Given the description of an element on the screen output the (x, y) to click on. 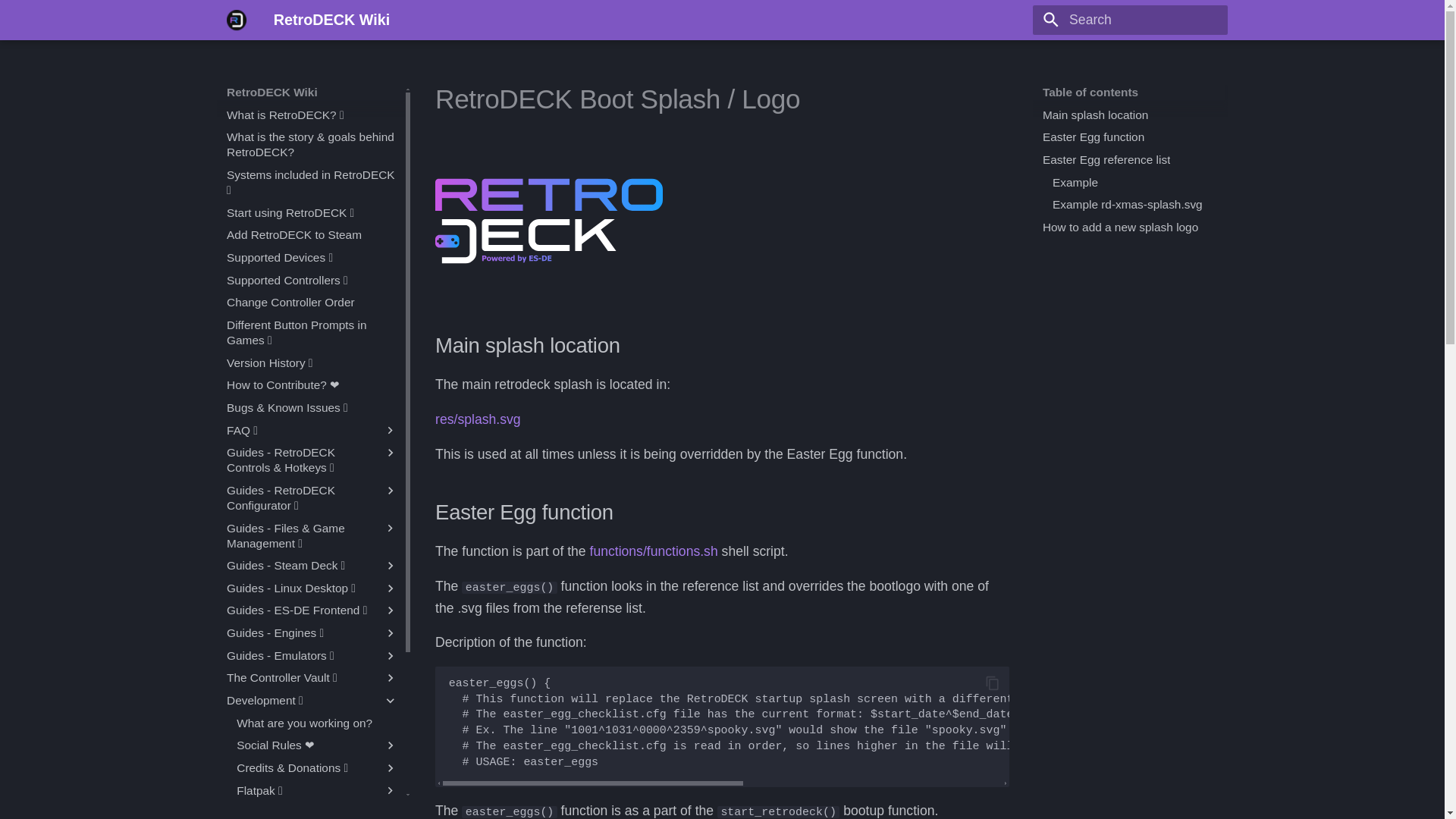
Add RetroDECK to Steam (312, 234)
RetroDECK Wiki (236, 19)
Copy to clipboard (992, 682)
Change Controller Order (312, 302)
